Given the description of an element on the screen output the (x, y) to click on. 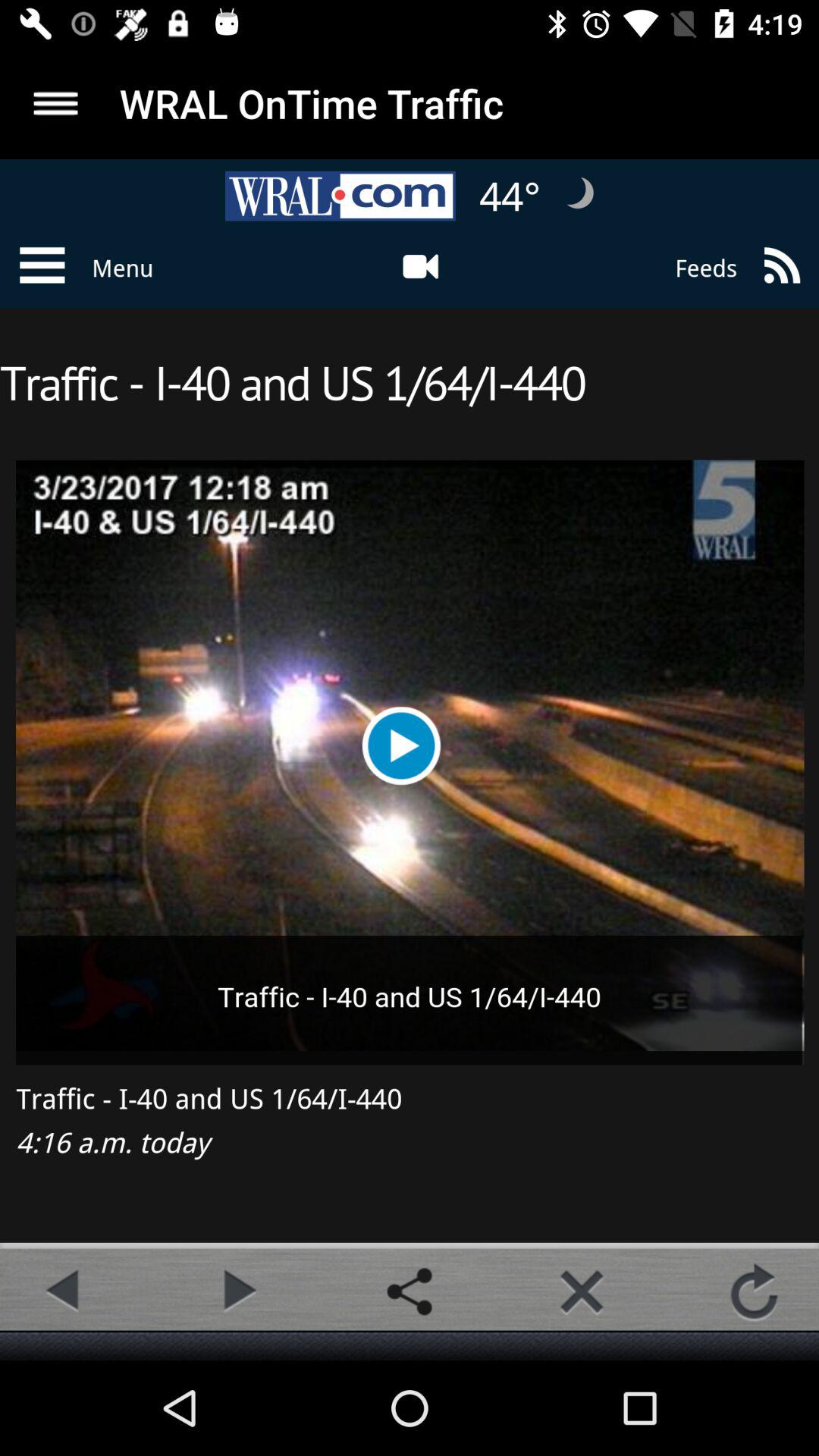
go to next (237, 1291)
